Given the description of an element on the screen output the (x, y) to click on. 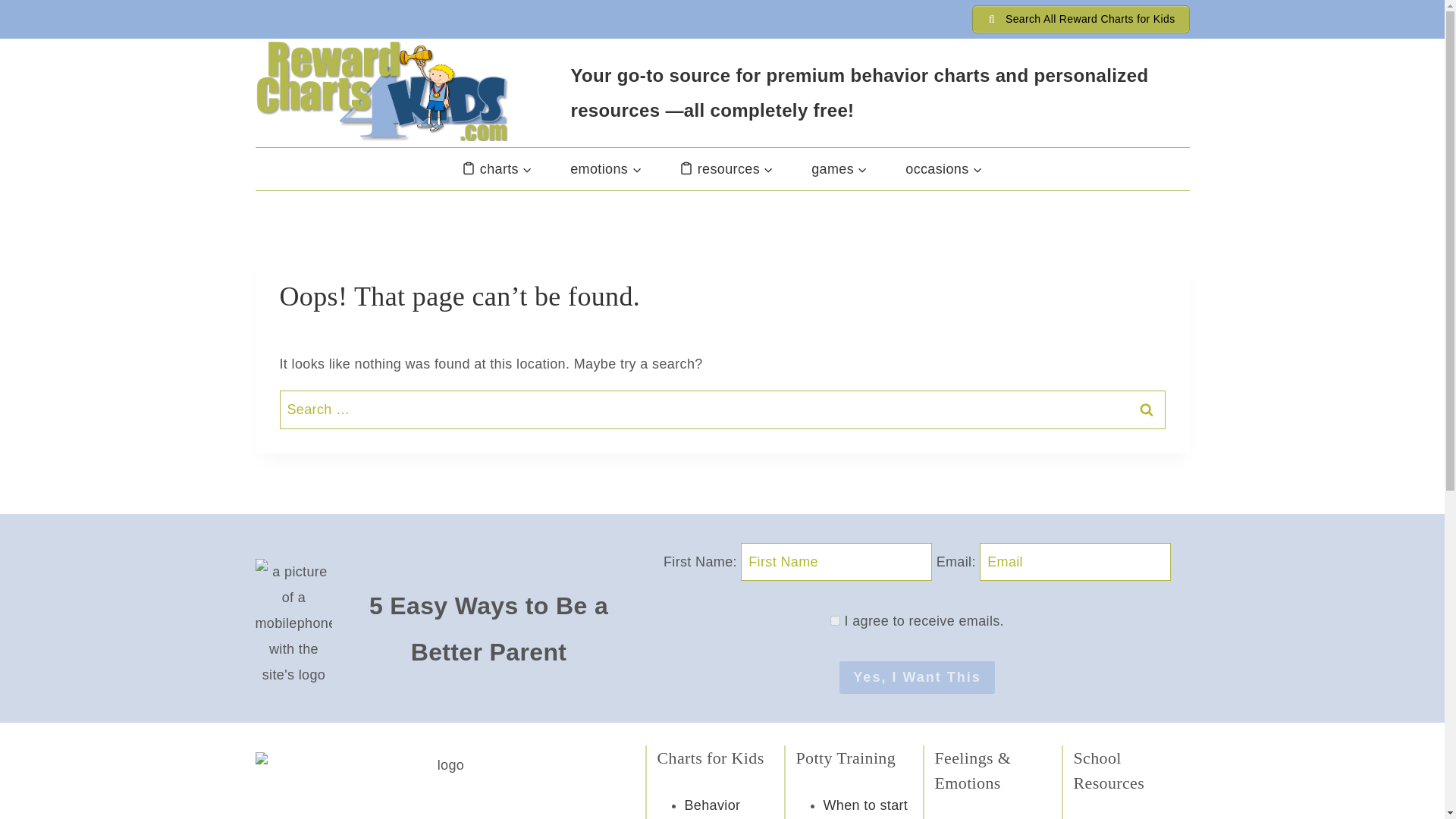
charts (496, 169)
emotions (606, 169)
Search (1145, 409)
Search (1145, 409)
Search All Reward Charts for Kids (1080, 18)
1 (834, 620)
